Given the description of an element on the screen output the (x, y) to click on. 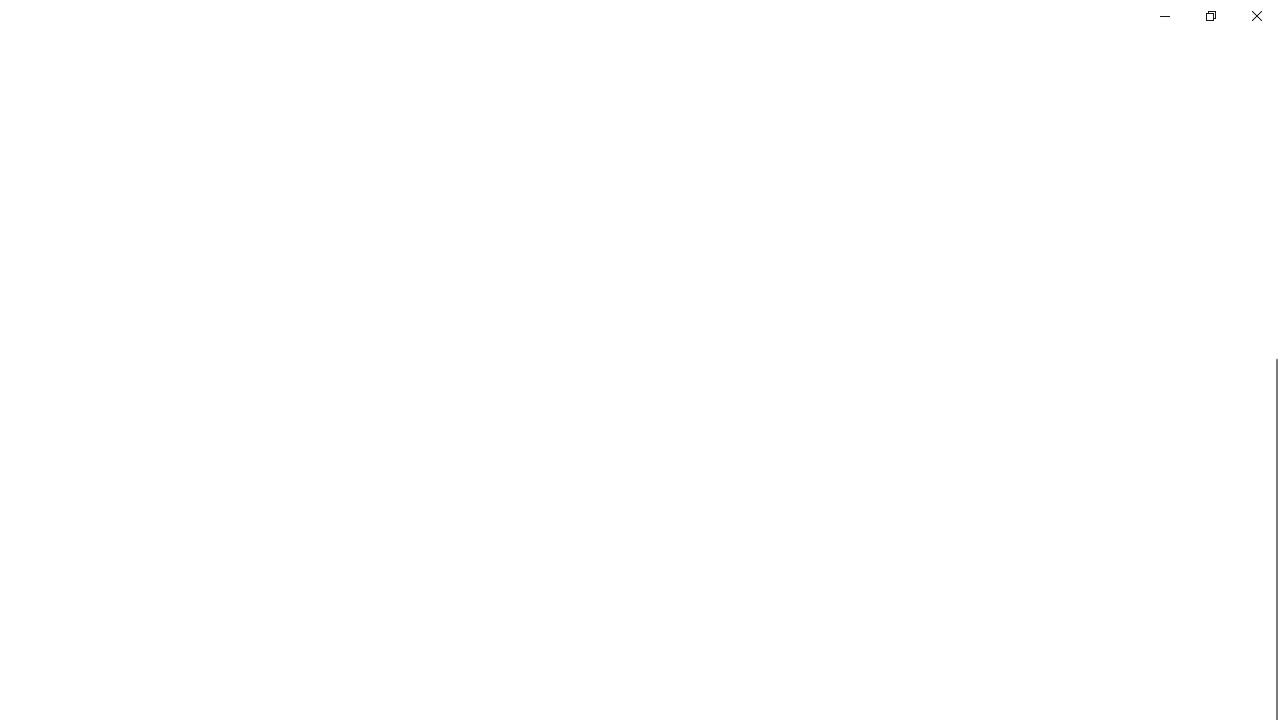
Vertical Small Decrease (1272, 103)
Vertical Large Decrease (1272, 235)
